Given the description of an element on the screen output the (x, y) to click on. 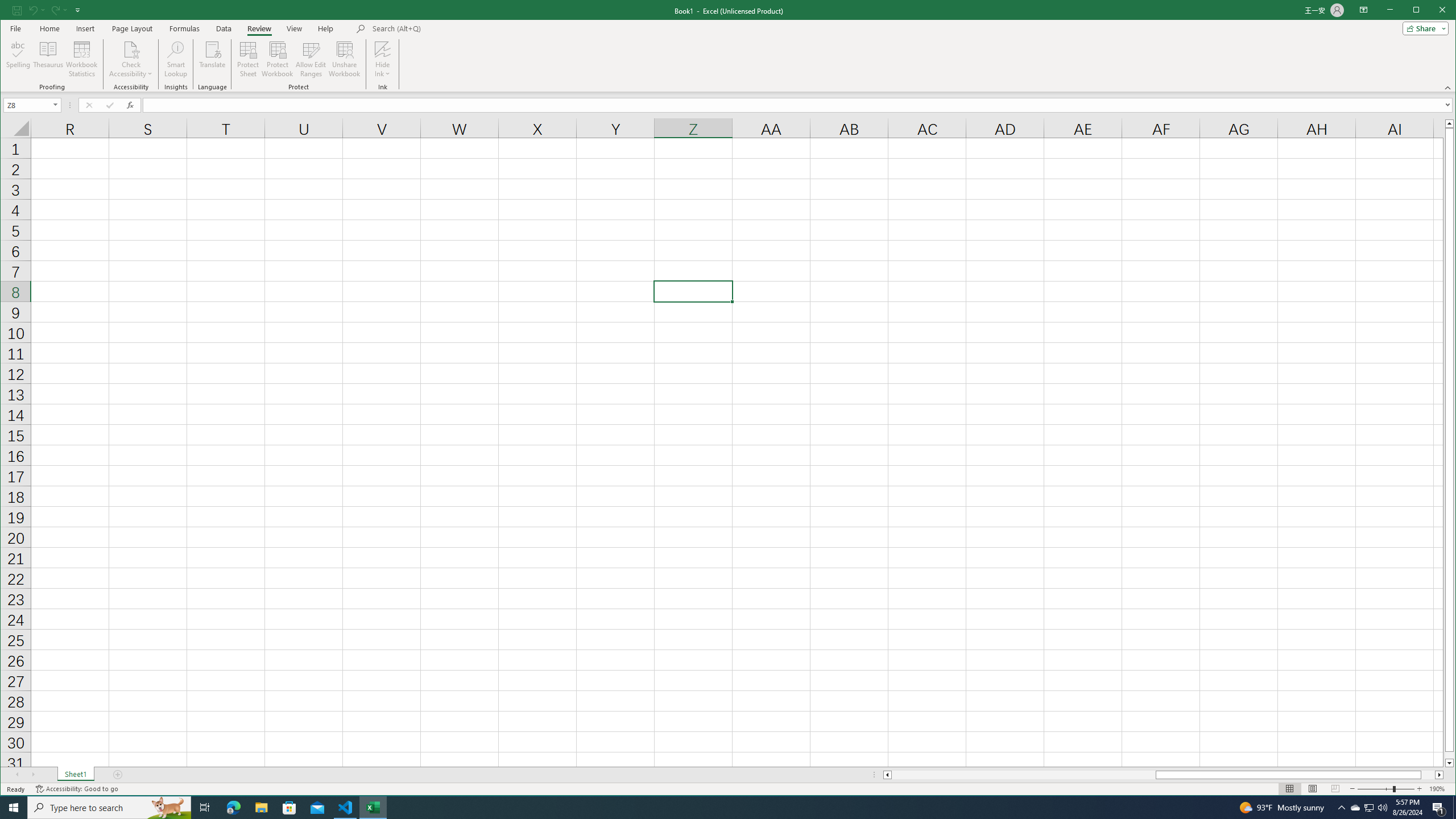
Translate (212, 59)
Smart Lookup (176, 59)
Visual Studio Code - 1 running window (345, 807)
